Given the description of an element on the screen output the (x, y) to click on. 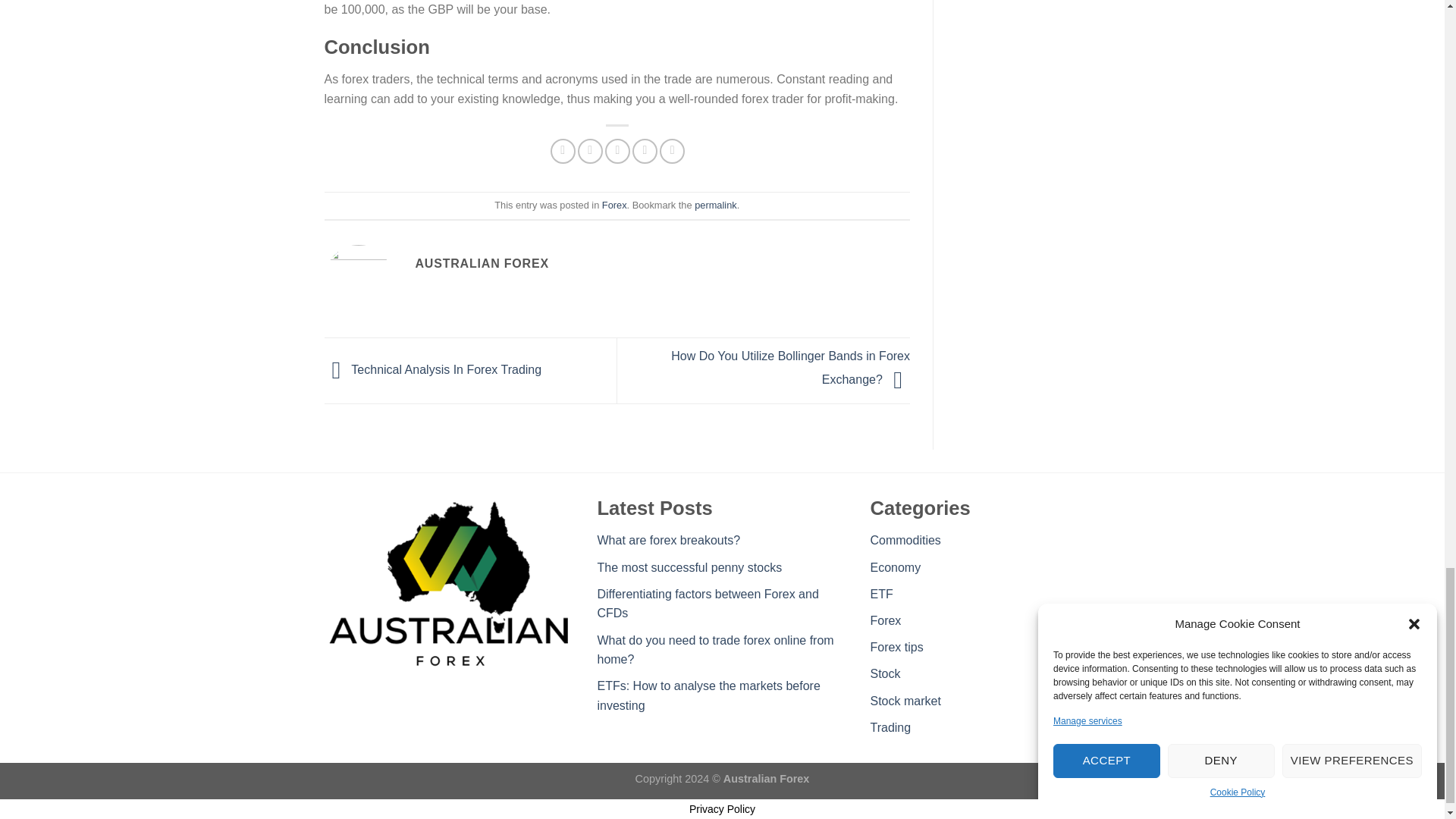
Forex (614, 204)
Permalink to 6 Basic Technical Terms Used in Forex Trading (715, 204)
Technical Analysis In Forex Trading (432, 369)
How Do You Utilize Bollinger Bands in Forex Exchange? (790, 367)
permalink (715, 204)
